Given the description of an element on the screen output the (x, y) to click on. 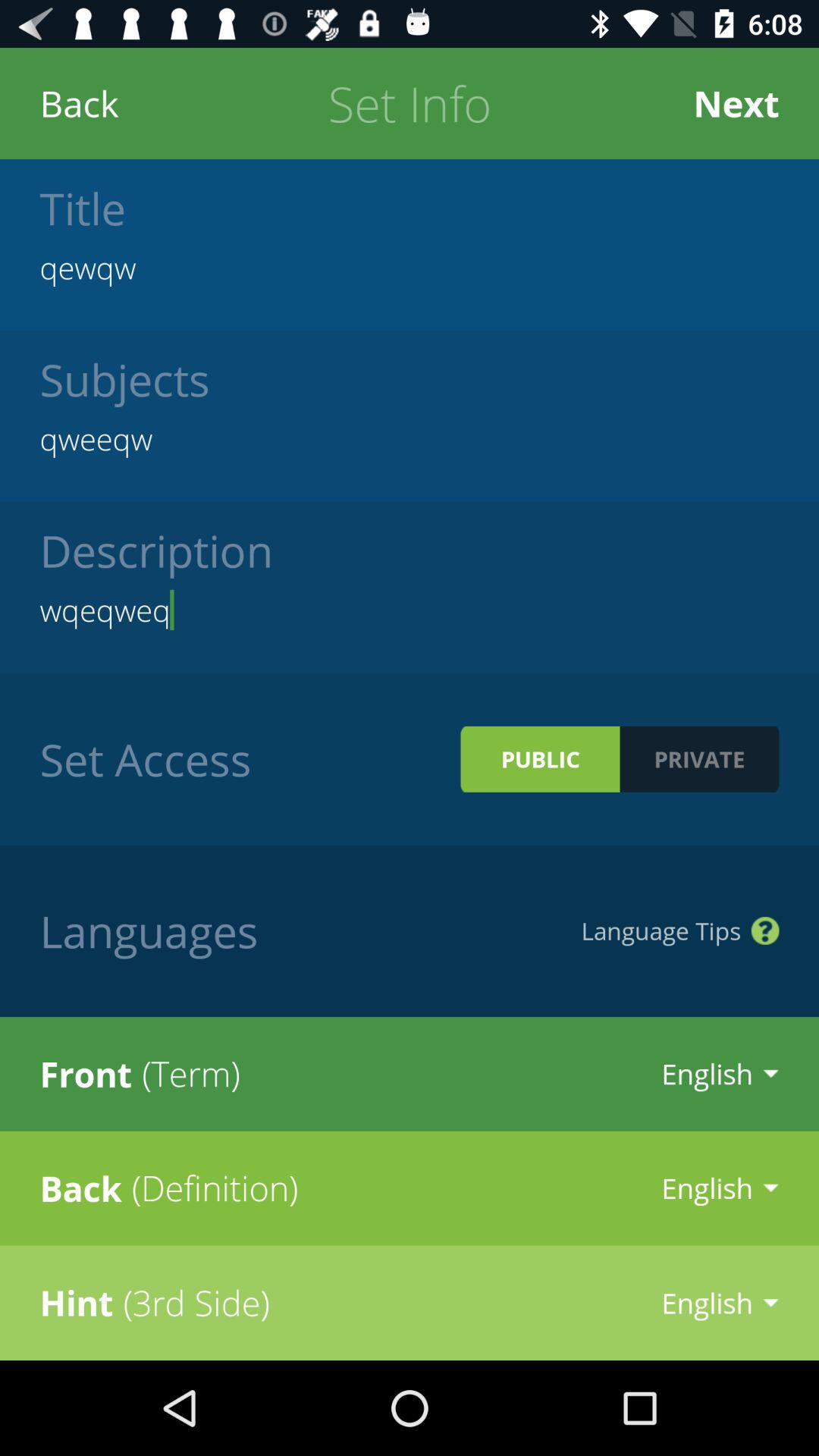
open the item above qewqw item (736, 103)
